Given the description of an element on the screen output the (x, y) to click on. 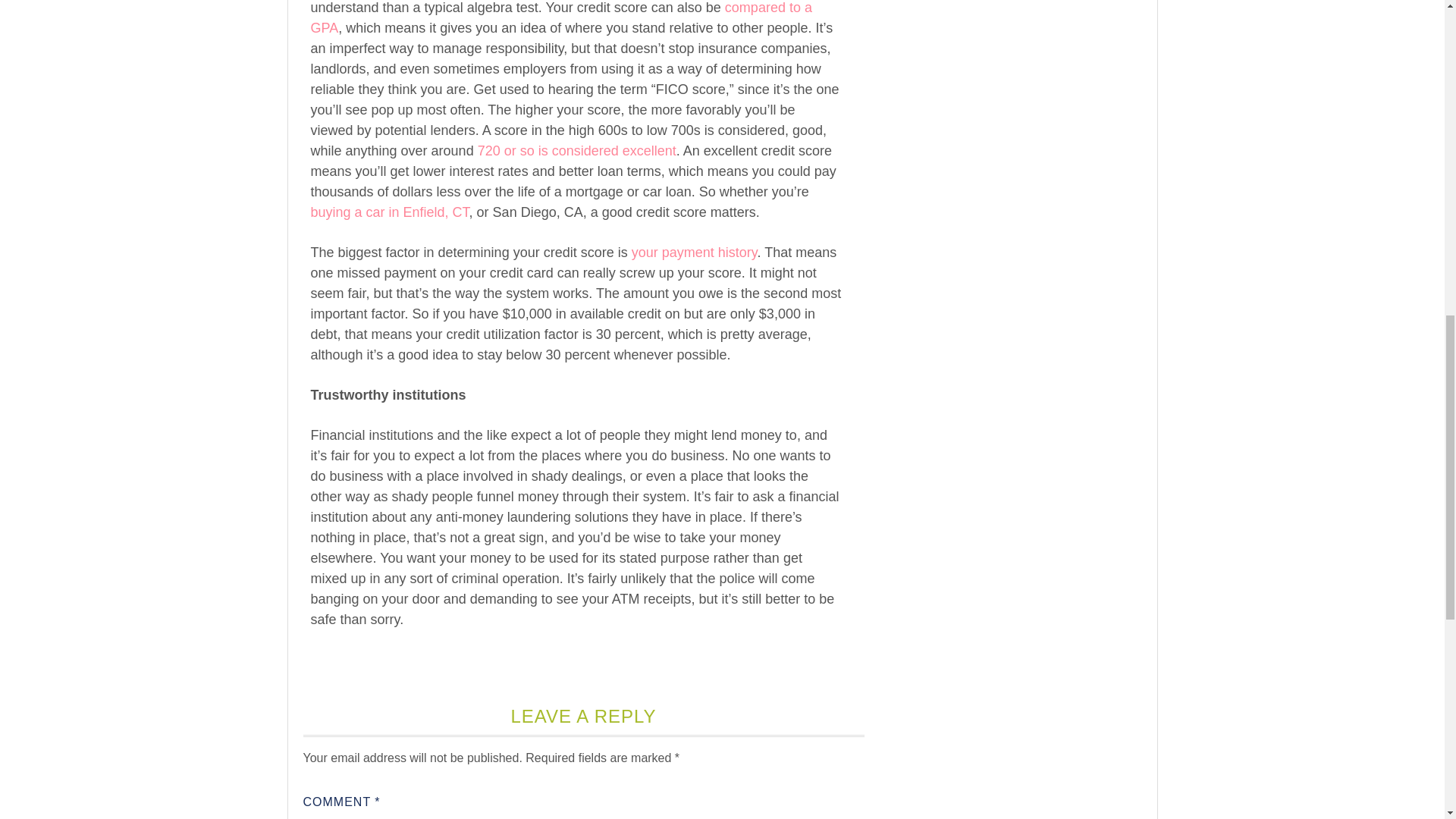
your payment history (694, 251)
720 or so is considered excellent (577, 150)
buying a car in Enfield, CT (389, 212)
compared to a GPA (561, 18)
